Given the description of an element on the screen output the (x, y) to click on. 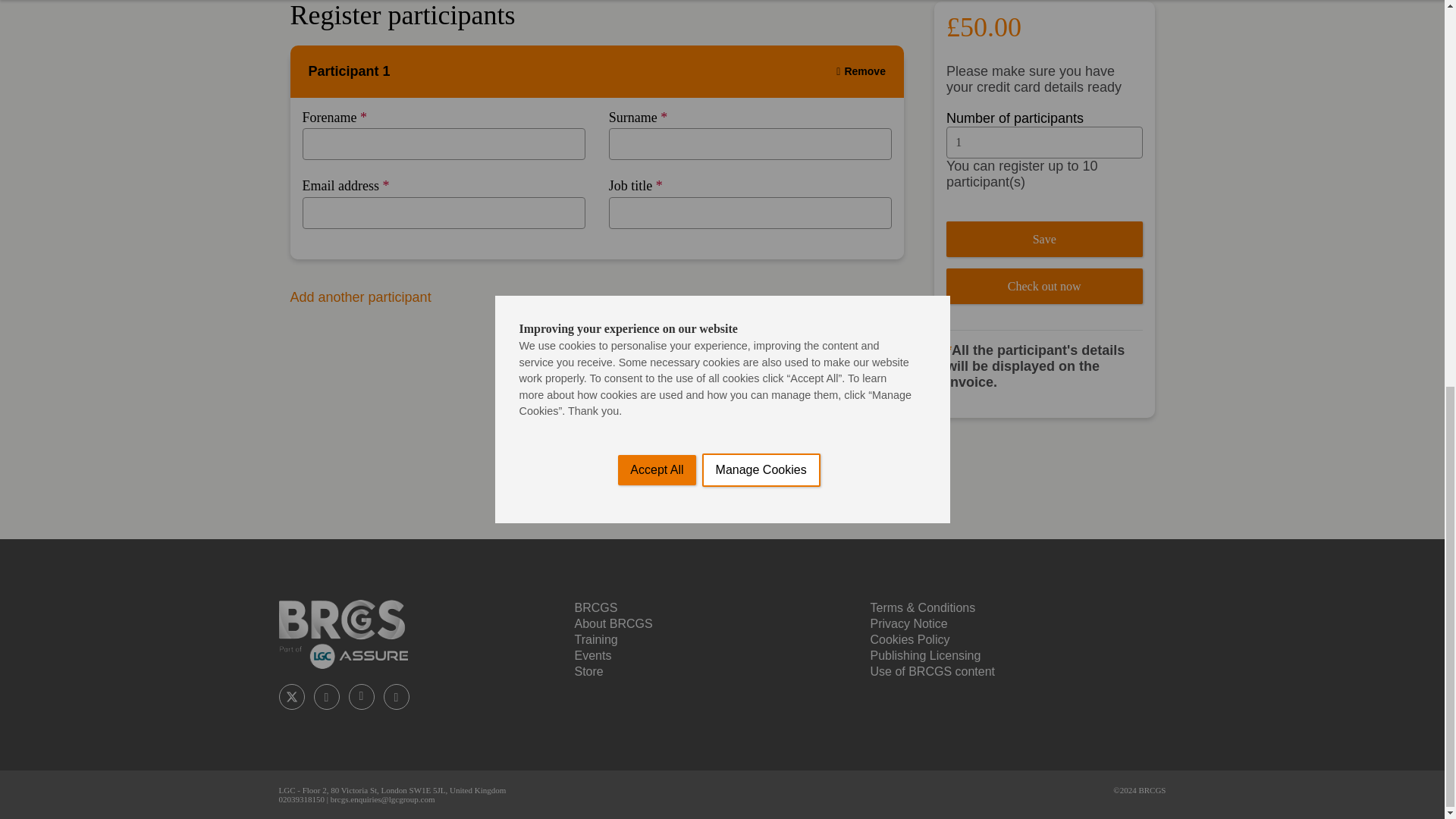
Manage Cookies (761, 62)
Check out now (1044, 285)
1 (1044, 142)
Accept All (656, 70)
